Given the description of an element on the screen output the (x, y) to click on. 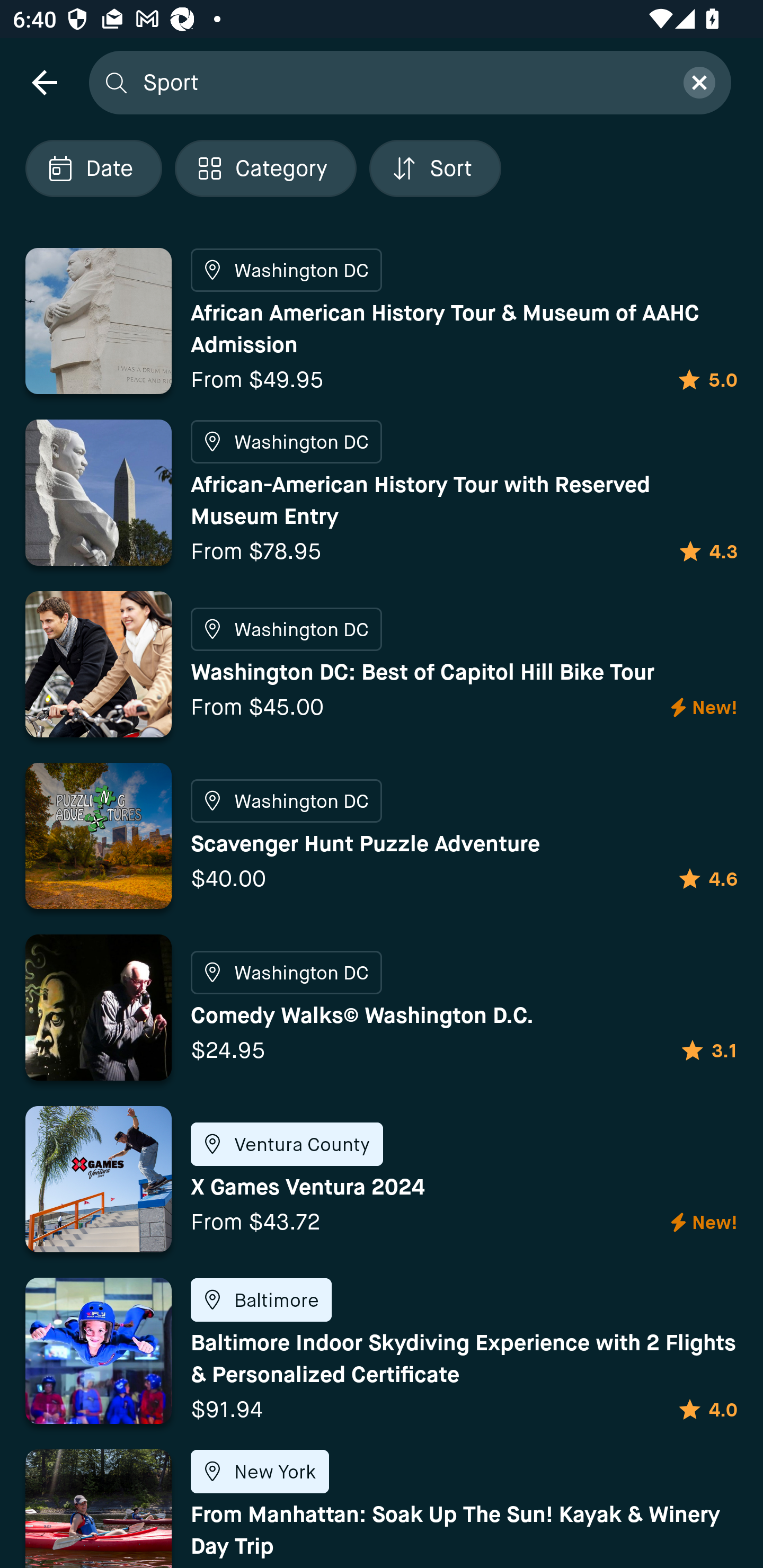
navigation icon (44, 81)
Sport (402, 81)
Localized description Date (93, 168)
Localized description Category (265, 168)
Localized description Sort (435, 168)
